Given the description of an element on the screen output the (x, y) to click on. 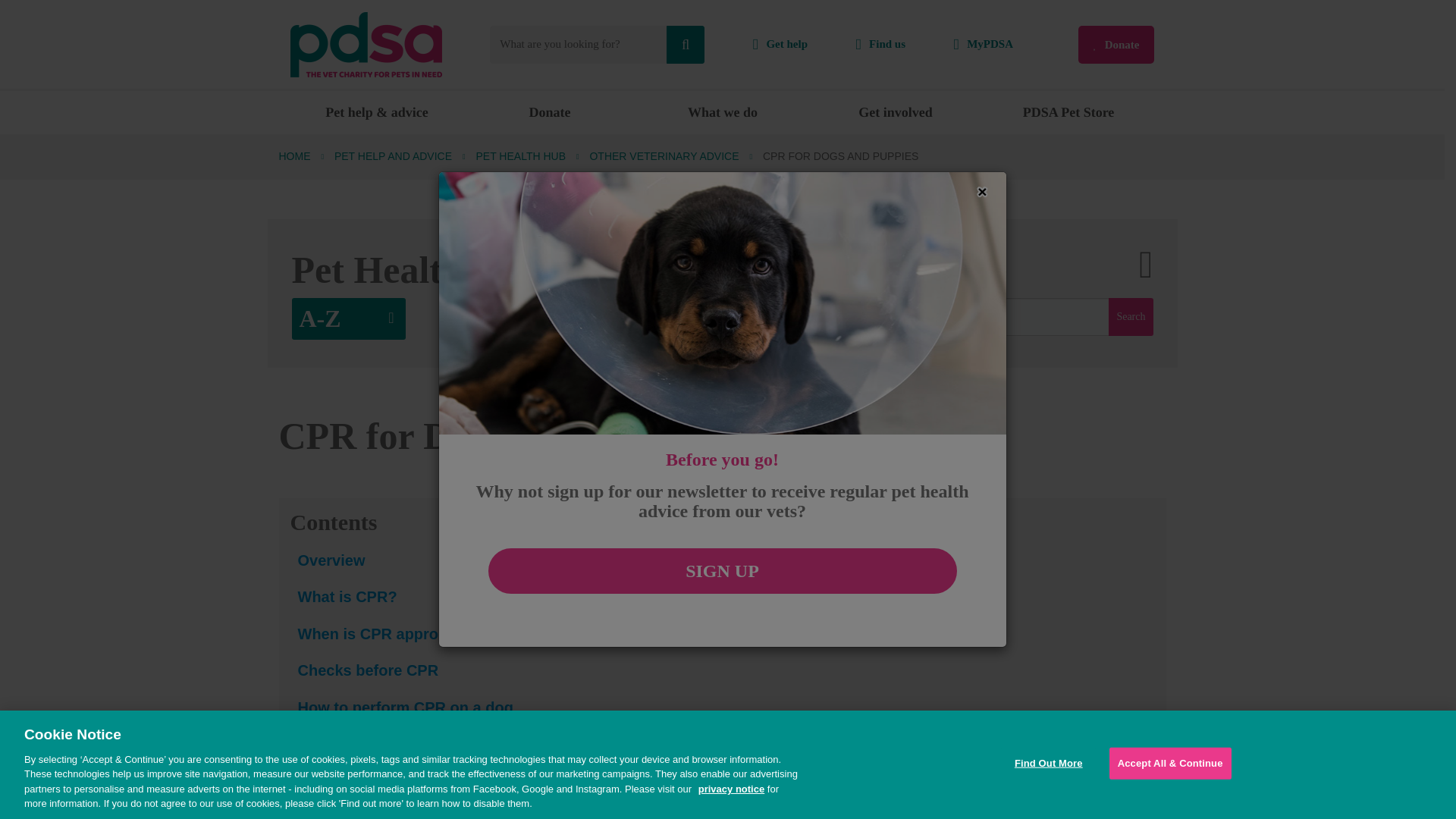
PDSA Home Page (365, 42)
